Given the description of an element on the screen output the (x, y) to click on. 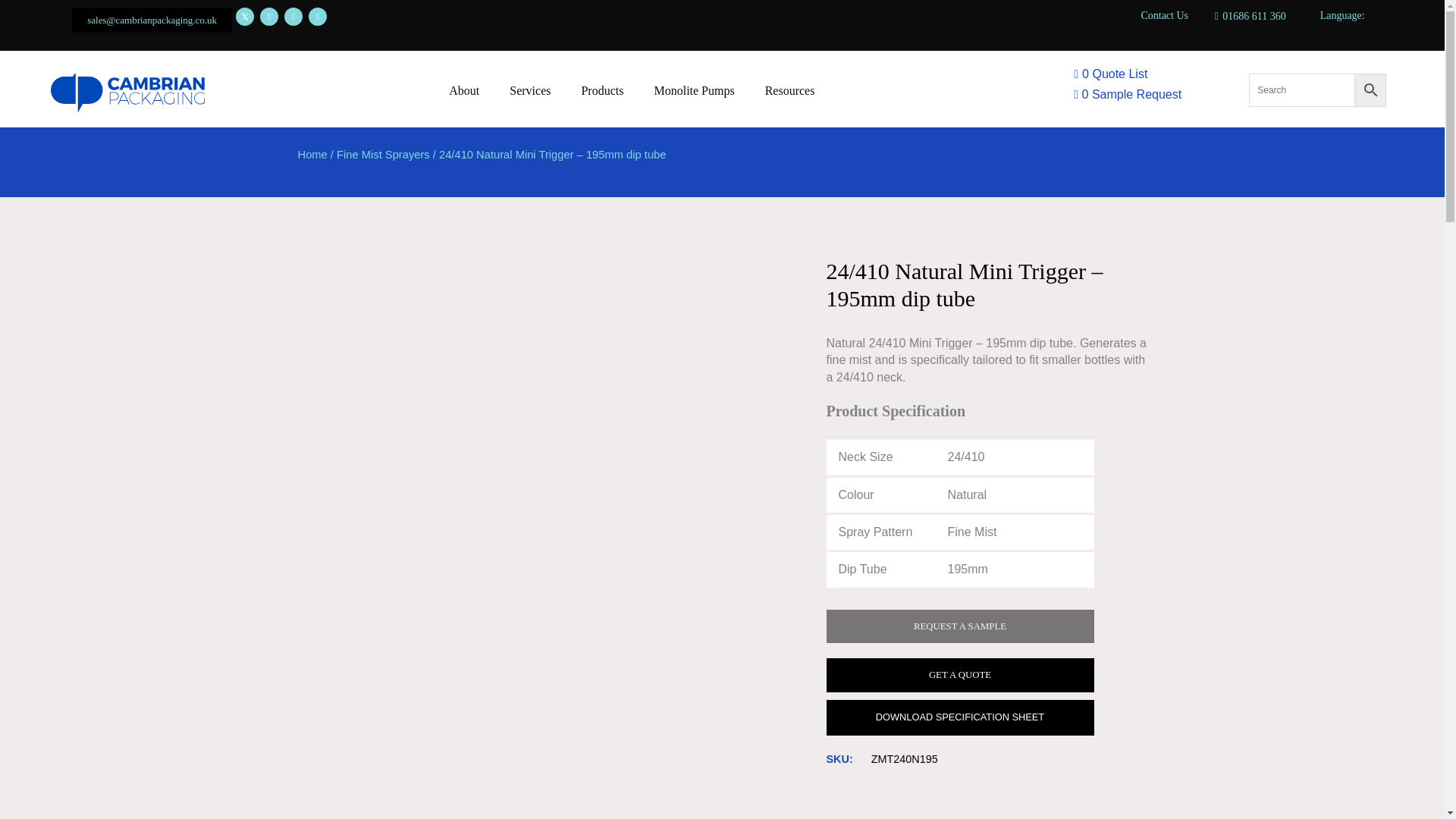
Products (602, 90)
Monolite Pumps (694, 90)
Contact Us (1164, 15)
Linkedin (269, 16)
Services (530, 90)
logo-cambrian (127, 92)
Resources (789, 90)
Instagram (292, 16)
Facebook (317, 16)
01686 611 360 (1250, 16)
